Given the description of an element on the screen output the (x, y) to click on. 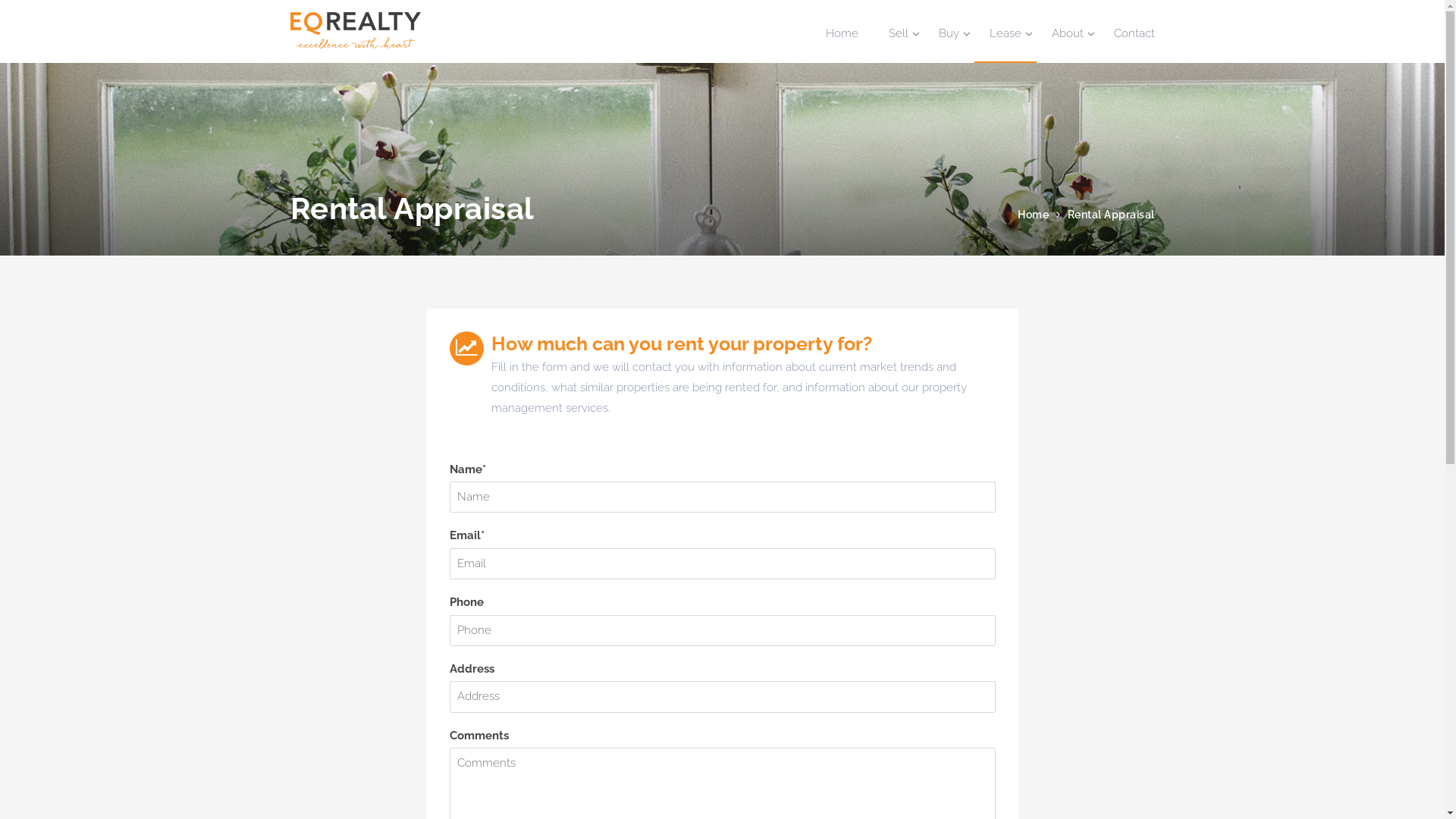
Rental Appraisal Element type: text (1110, 214)
About Element type: text (1066, 32)
Sell Element type: text (898, 32)
Contact Element type: text (1126, 32)
Buy Element type: text (948, 32)
Home Element type: text (840, 32)
Lease Element type: text (1004, 32)
